Given the description of an element on the screen output the (x, y) to click on. 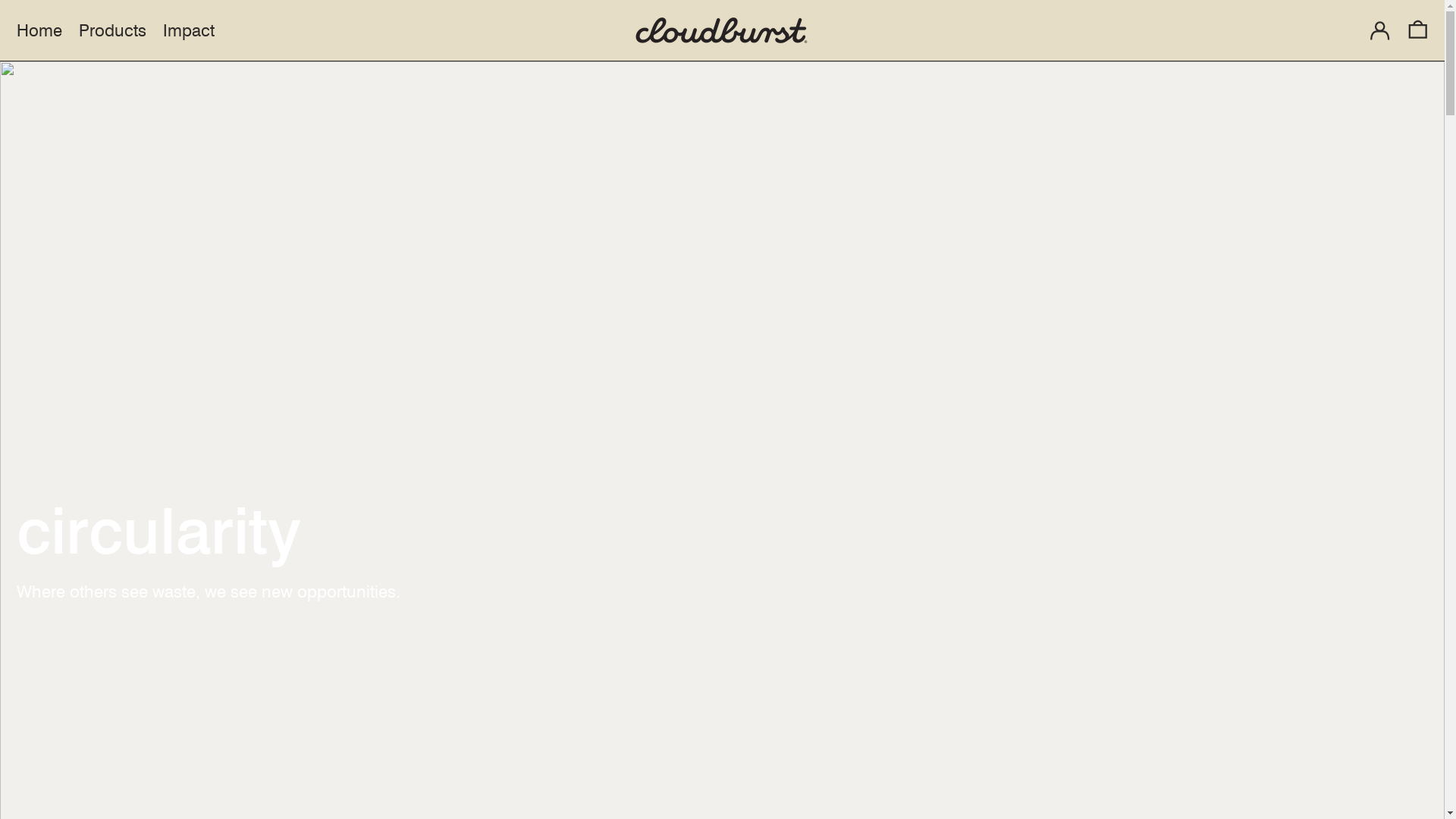
0 items Element type: text (1417, 30)
Products Element type: text (112, 30)
Log in Element type: text (1379, 30)
Impact Element type: text (188, 30)
Home Element type: text (39, 30)
